Given the description of an element on the screen output the (x, y) to click on. 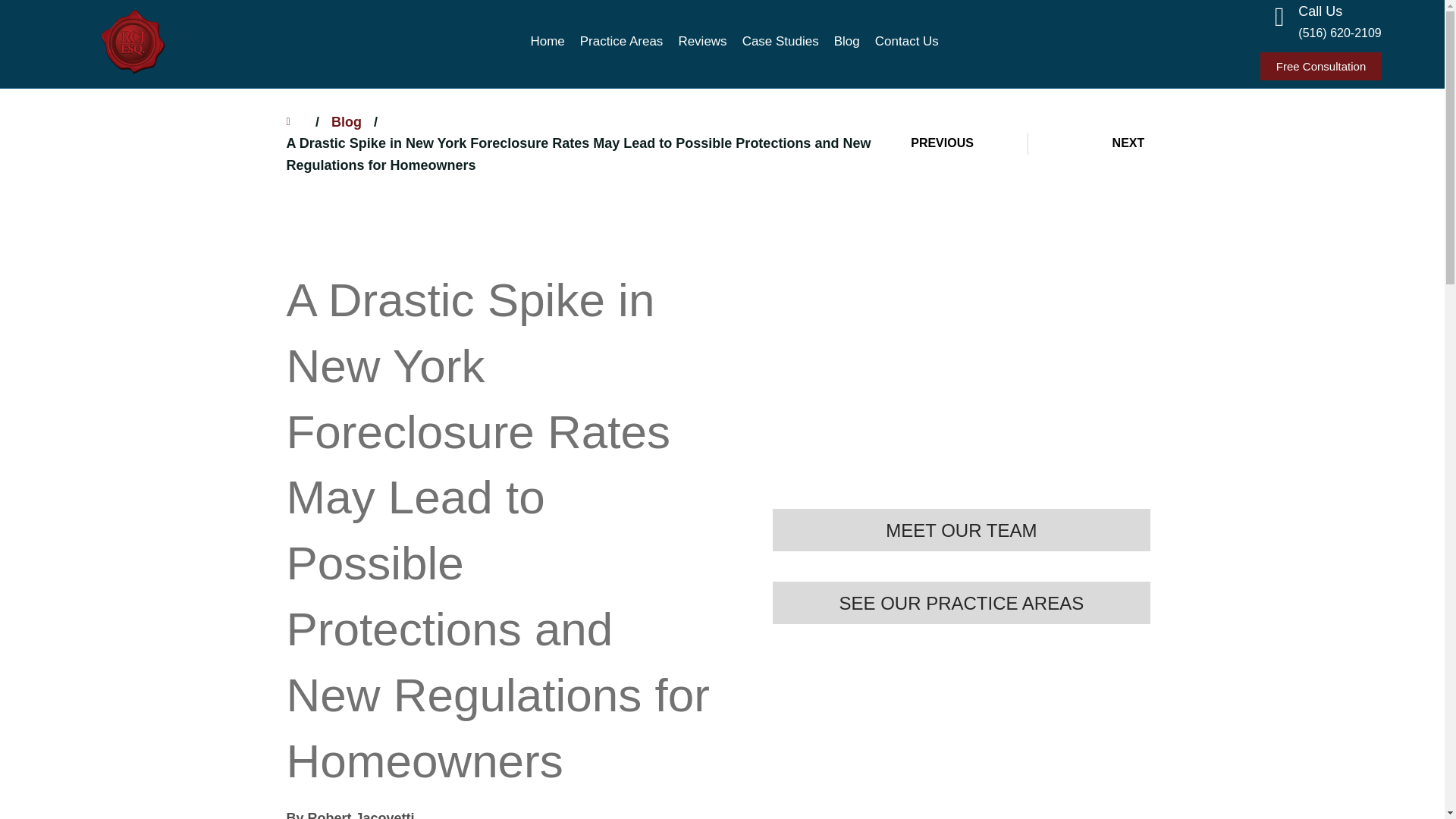
Case Studies (781, 41)
MEET OUR TEAM (961, 529)
Free Consultation (1320, 66)
PREVIOUS (969, 143)
Contact Us (906, 41)
Home (547, 41)
SEE OUR PRACTICE AREAS (961, 602)
Reviews (701, 41)
NEXT (1085, 143)
Blog (346, 122)
Practice Areas (621, 41)
